Given the description of an element on the screen output the (x, y) to click on. 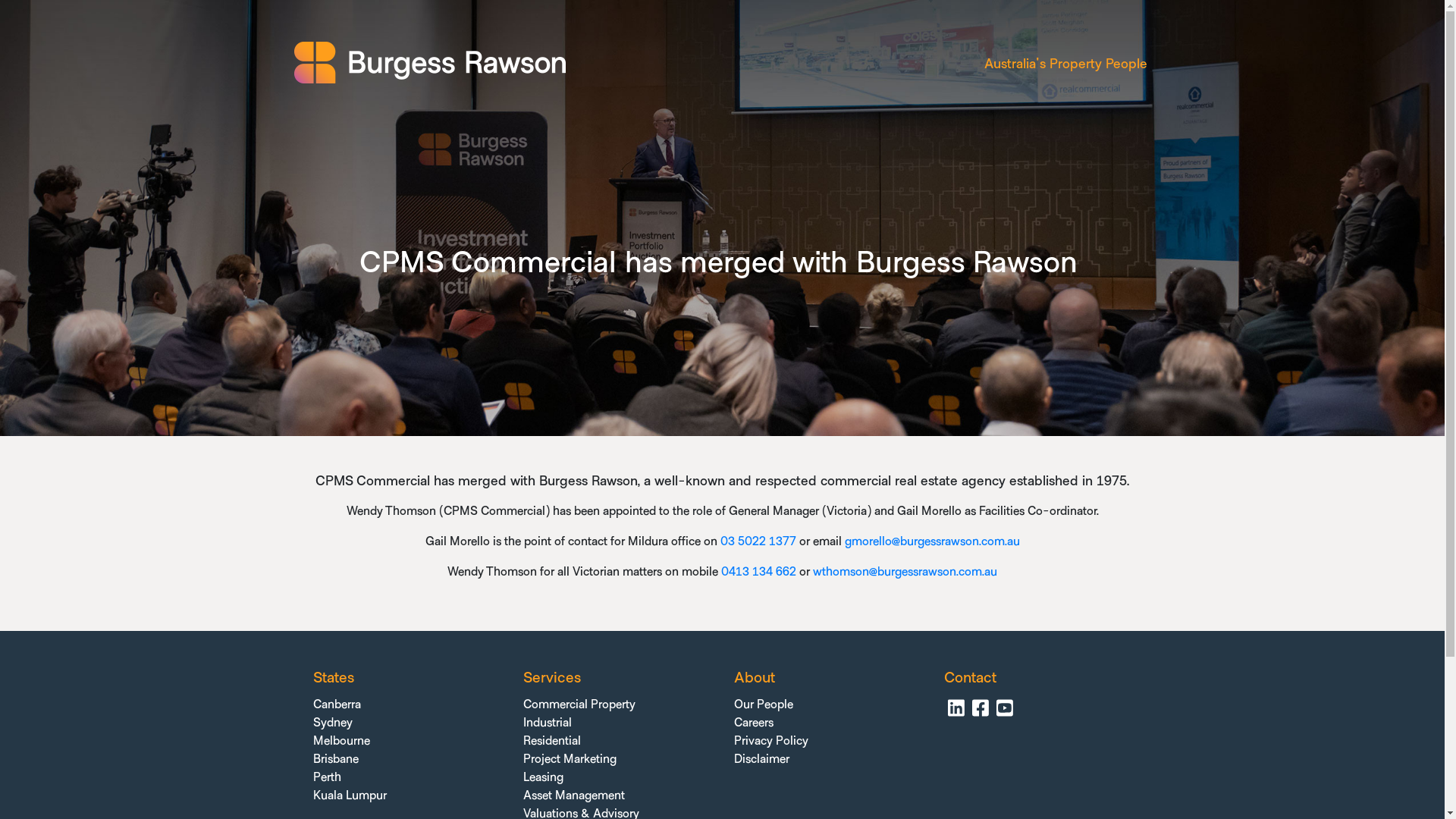
Kuala Lumpur Element type: text (348, 795)
gmorello@burgessrawson.com.au Element type: text (931, 541)
0413 134 662 Element type: text (758, 571)
Leasing Element type: text (543, 777)
Our People Element type: text (763, 704)
Melbourne Element type: text (340, 740)
Brisbane Element type: text (334, 759)
03 5022 1377 Element type: text (758, 541)
Perth Element type: text (326, 777)
Project Marketing Element type: text (569, 759)
Careers Element type: text (753, 722)
Residential Element type: text (551, 740)
wthomson@burgessrawson.com.au Element type: text (904, 571)
Privacy Policy Element type: text (771, 740)
Sydney Element type: text (331, 722)
Canberra Element type: text (336, 704)
Disclaimer Element type: text (761, 759)
Industrial Element type: text (547, 722)
Commercial Property Element type: text (579, 704)
Asset Management Element type: text (573, 795)
